Given the description of an element on the screen output the (x, y) to click on. 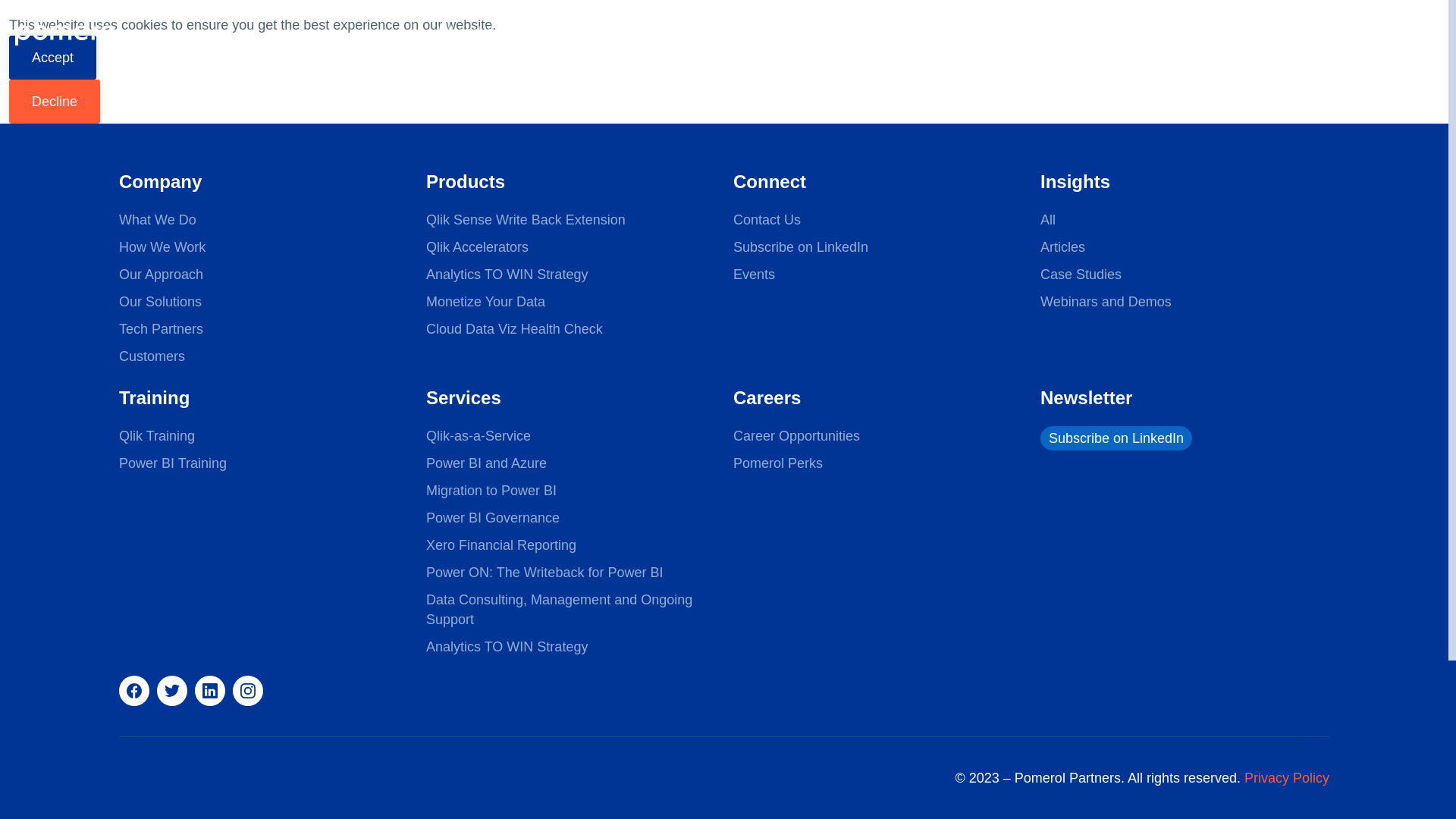
Facebook (134, 690)
Instagram (247, 690)
Twitter (172, 690)
LinkedIn (210, 690)
